Given the description of an element on the screen output the (x, y) to click on. 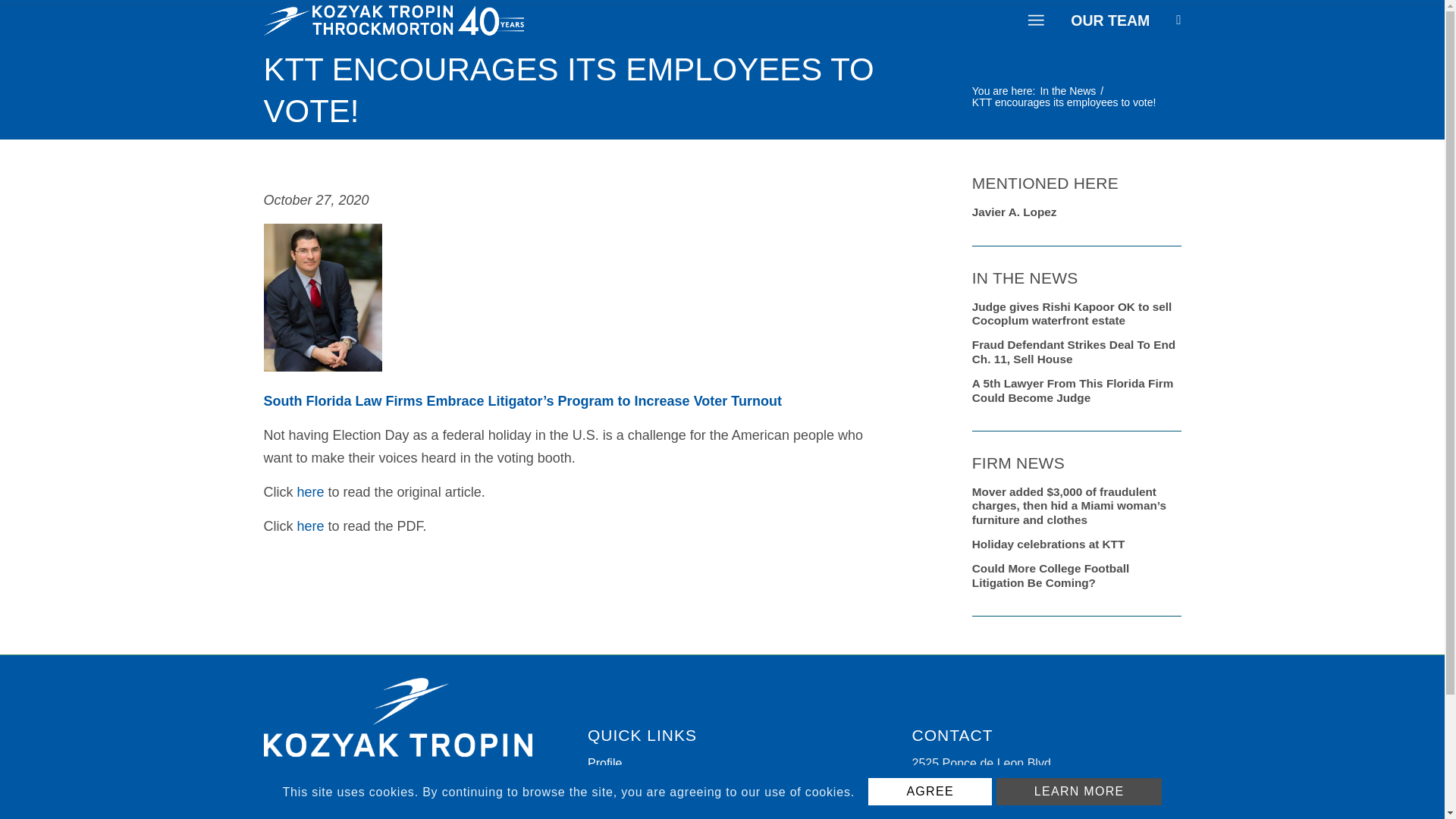
Page 1 (579, 447)
Could More College Football Litigation Be Coming? (1076, 573)
OUR TEAM (1110, 20)
Javier A. Lopez (1076, 209)
Holiday celebrations at KTT (1076, 542)
A 5th Lawyer From This Florida Firm Could Become Judge (1076, 388)
Fraud Defendant Strikes Deal To End Ch. 11, Sell House (1076, 349)
Permanent Link: KTT encourages its employees to vote! (569, 89)
